Given the description of an element on the screen output the (x, y) to click on. 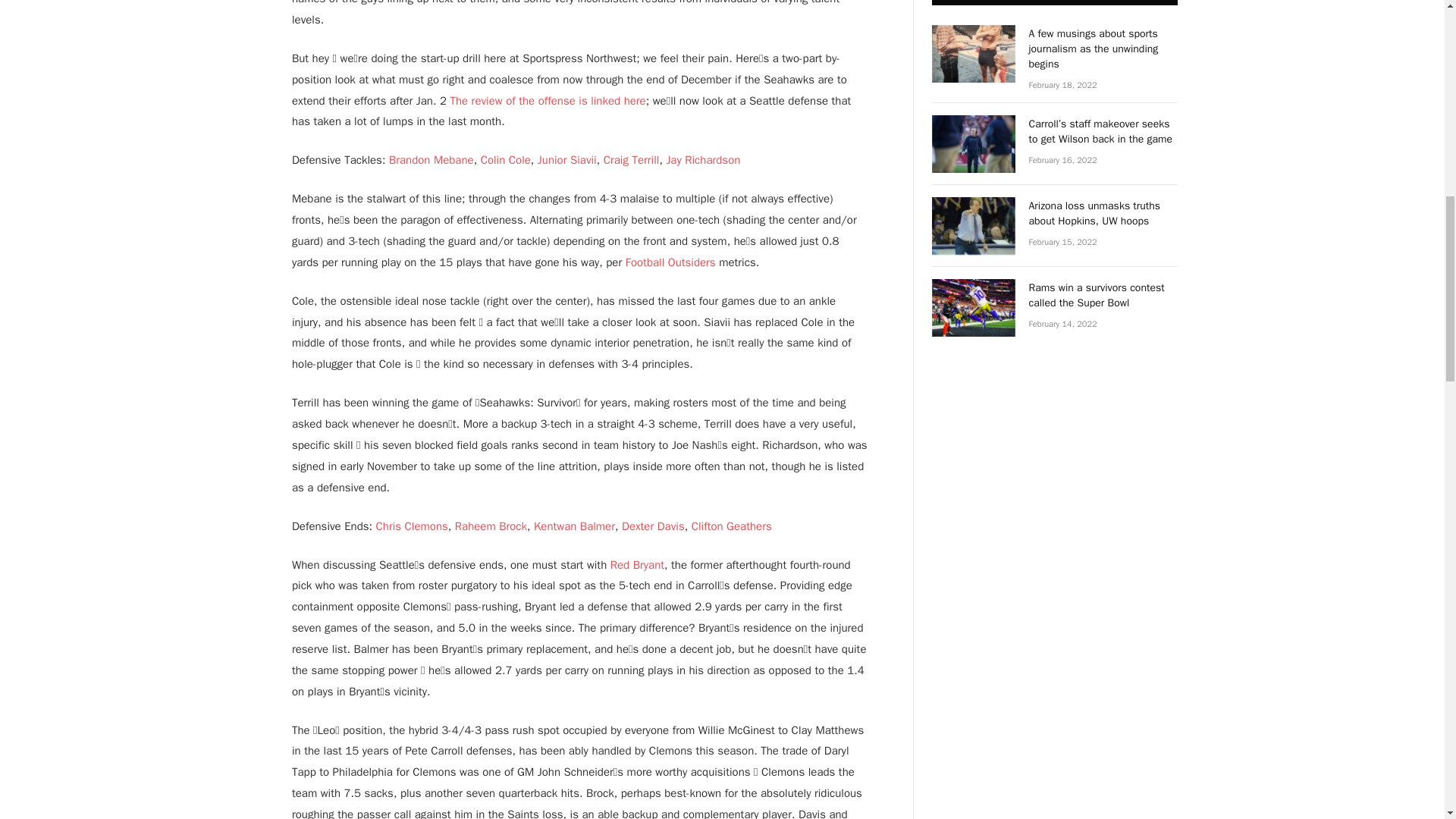
Junior Siavii (566, 160)
Raheem Brock (490, 526)
Craig Terrill (631, 160)
Colin Cole (505, 160)
Jay Richardson (702, 160)
The review of the offense is linked here (546, 100)
Chris Clemons (411, 526)
Brandon Mebane (431, 160)
Football Outsiders (672, 262)
